Given the description of an element on the screen output the (x, y) to click on. 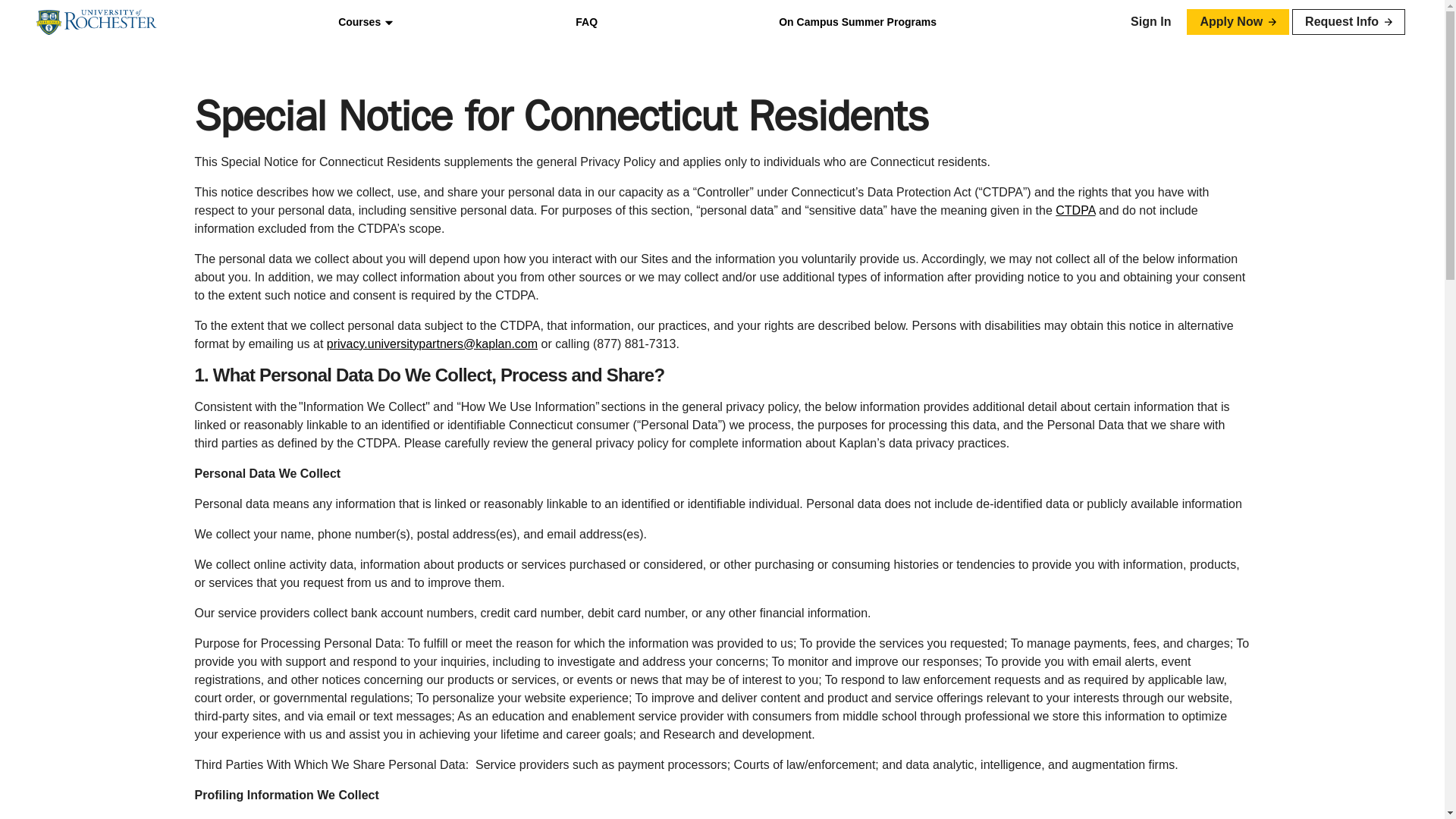
Home (96, 21)
On Campus Summer Programs (857, 21)
Apply Now (1237, 22)
Orthopedic Medicine (418, 119)
STEM Courses (418, 183)
U.S. Healthcare (418, 145)
Medicine Courses (418, 68)
CTDPA (1074, 210)
Video Game Design (418, 234)
